Given the description of an element on the screen output the (x, y) to click on. 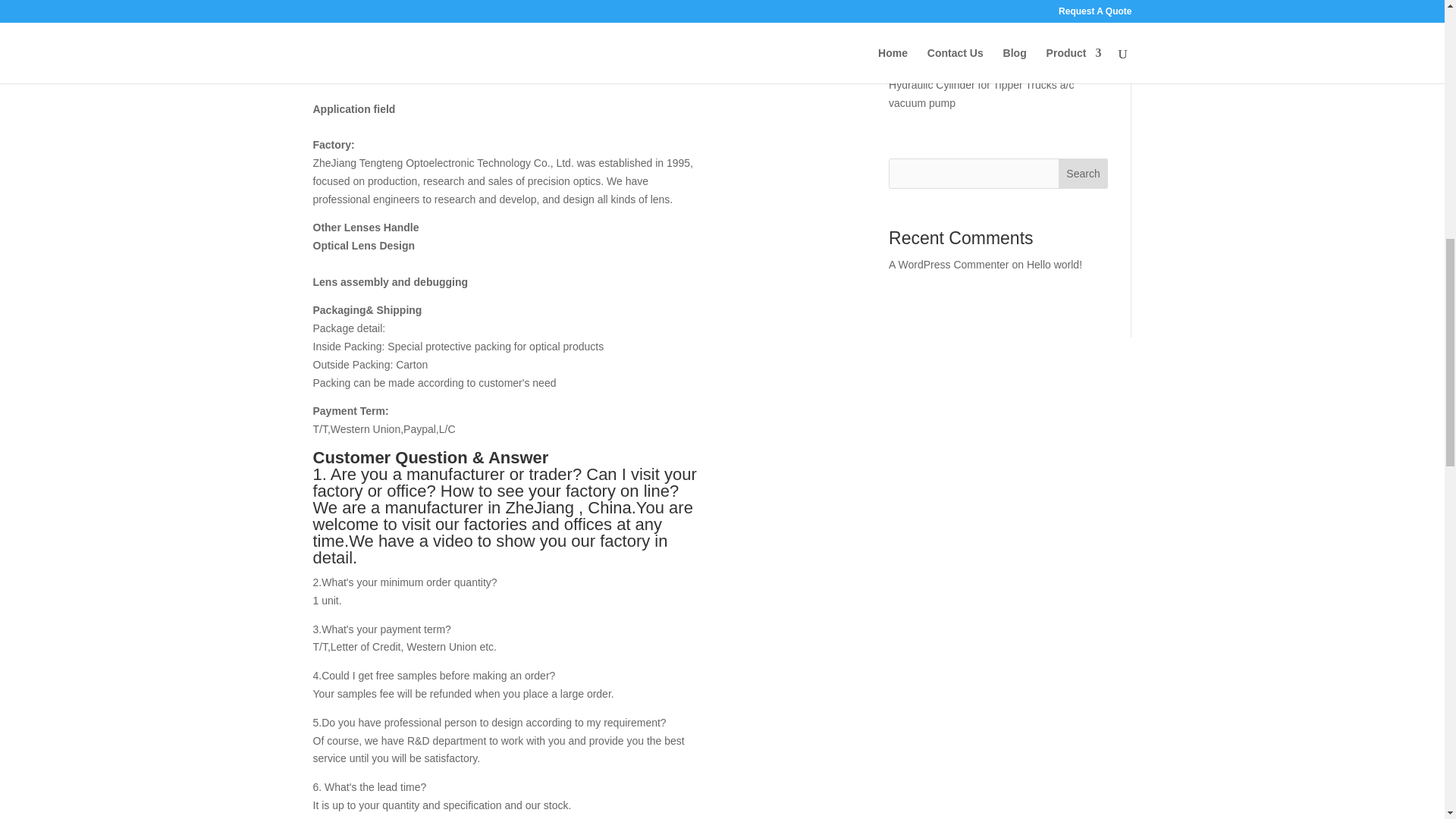
Hello world! (1053, 264)
A WordPress Commenter (948, 264)
Search (1083, 173)
